Given the description of an element on the screen output the (x, y) to click on. 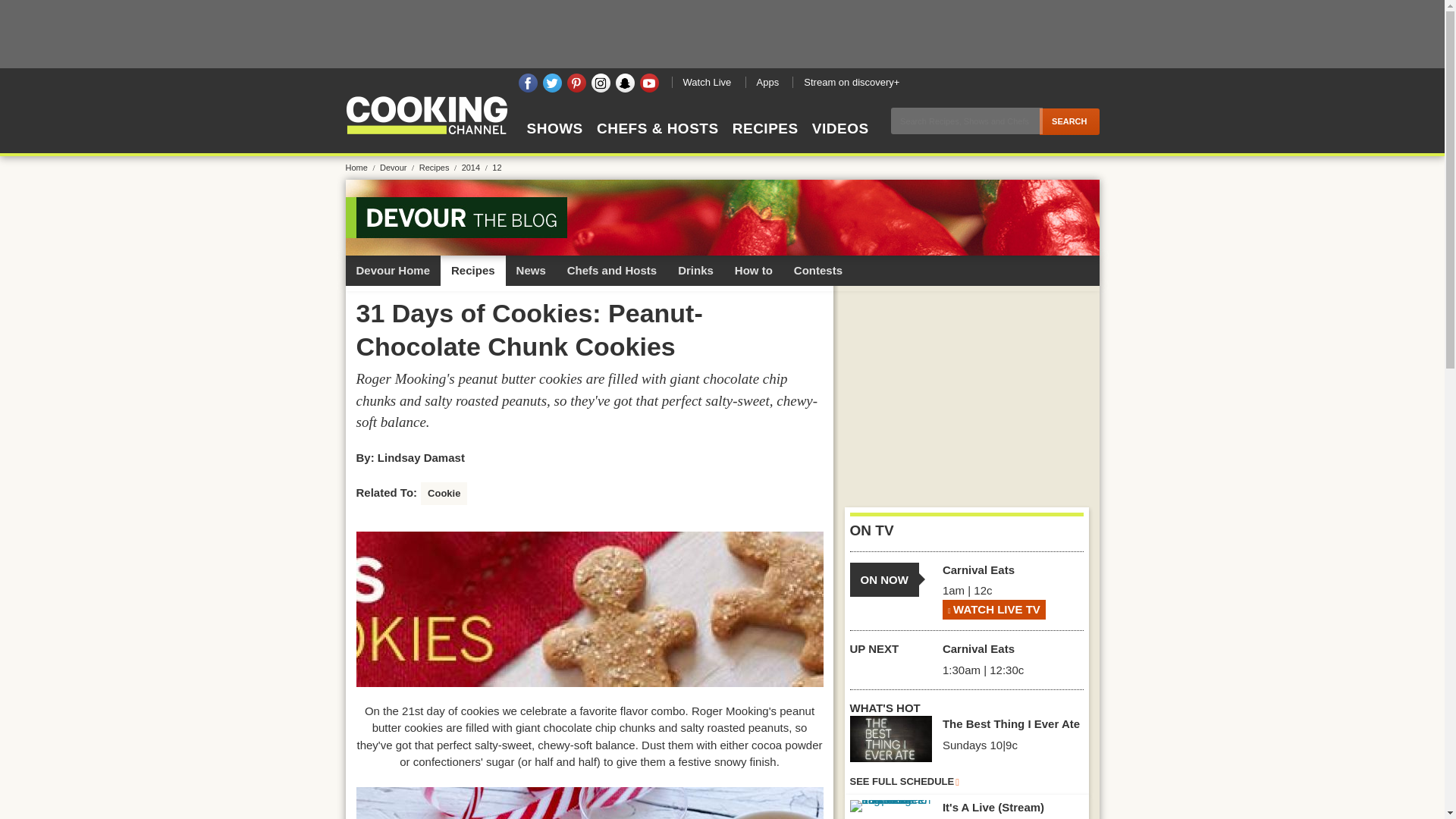
Watch Live (706, 81)
Follow us on Instagram (600, 82)
Home (361, 166)
Contests (818, 269)
Follow us on Snapchat (624, 82)
2014 (475, 166)
Chefs and Hosts (611, 269)
Recipes (439, 166)
VIDEOS (840, 141)
Follow us on Facebook (527, 82)
